Given the description of an element on the screen output the (x, y) to click on. 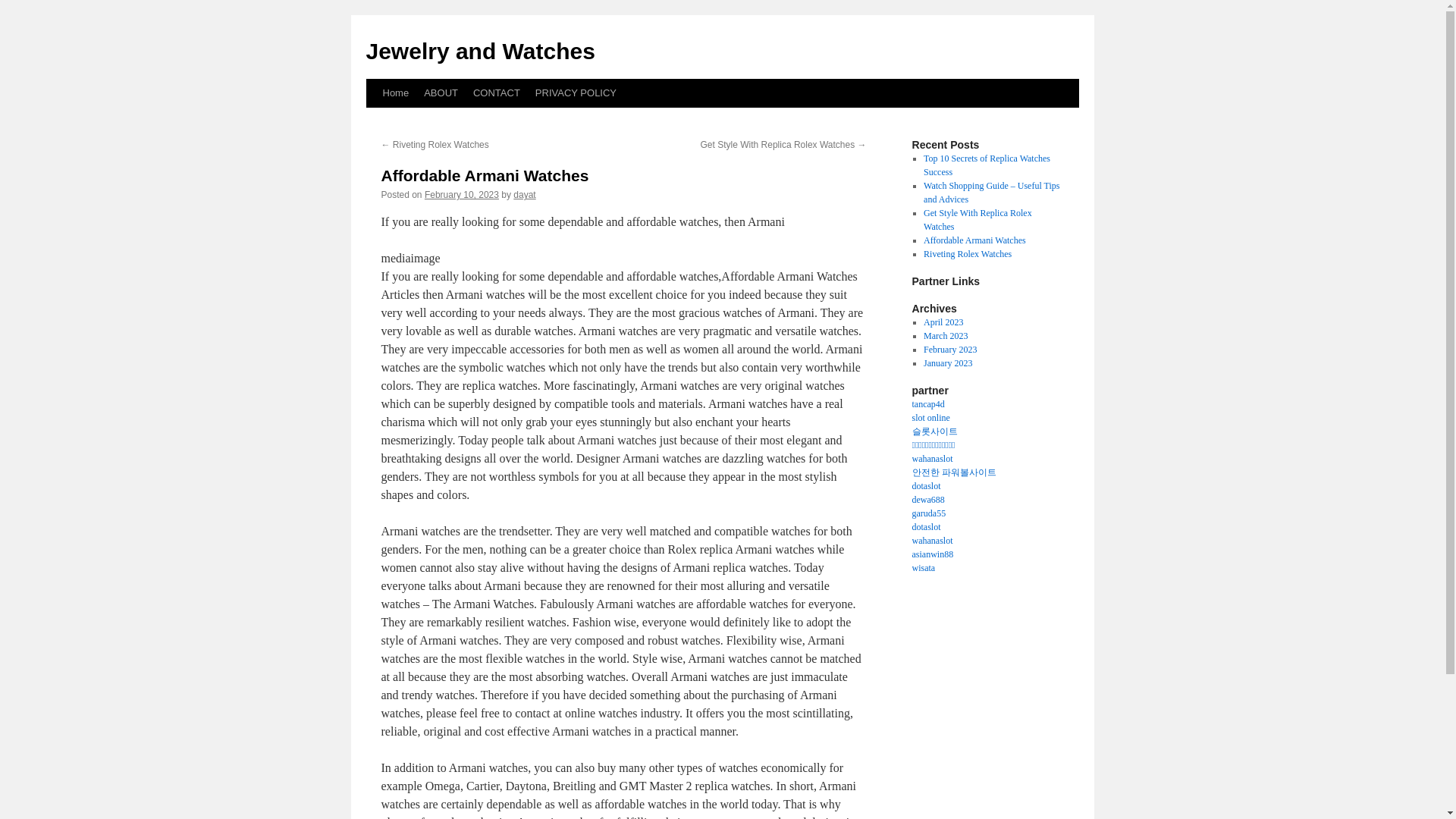
Jewelry and Watches (479, 50)
dayat (524, 194)
wahanaslot (931, 458)
dotaslot (925, 485)
Top 10 Secrets of Replica Watches Success (986, 165)
slot online (930, 417)
garuda55 (927, 512)
CONTACT (496, 92)
Riveting Rolex Watches (967, 253)
asianwin88 (932, 553)
